Given the description of an element on the screen output the (x, y) to click on. 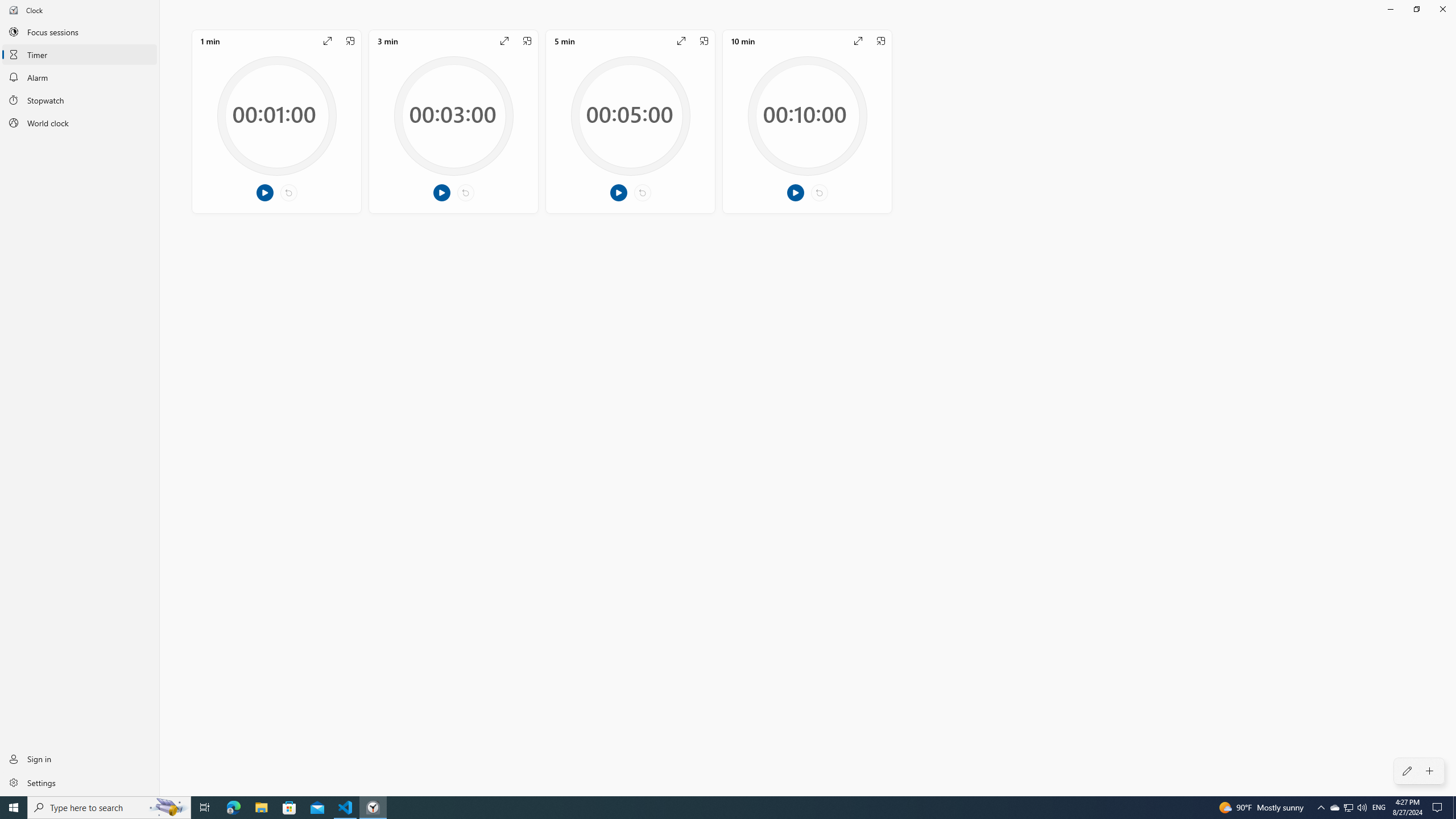
Edit timer, 3 min, Not Started, 3 minutes 0 seconds (453, 121)
World clock (79, 122)
Stopwatch (79, 100)
Alarm (79, 77)
Focus sessions (79, 31)
